Given the description of an element on the screen output the (x, y) to click on. 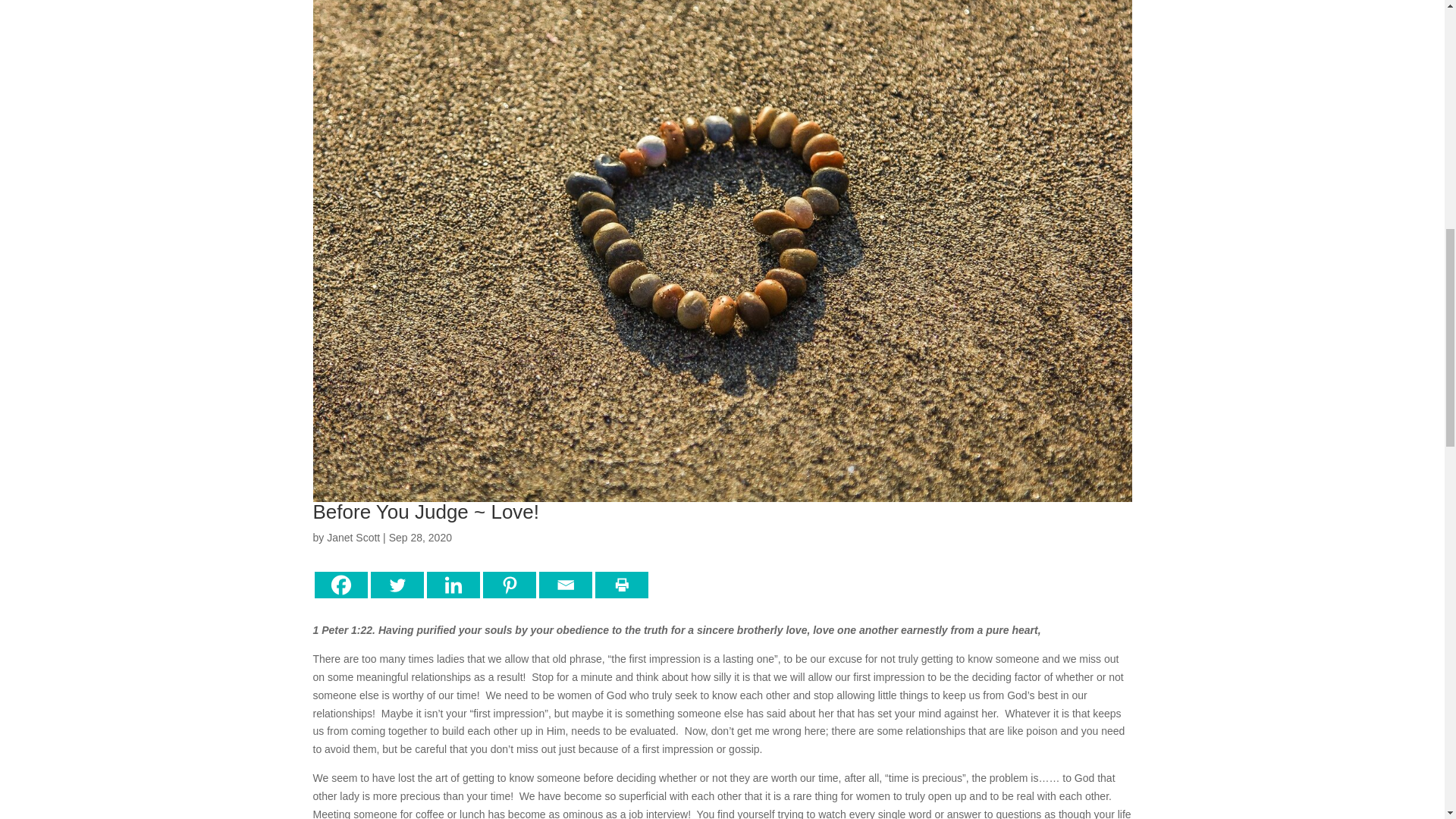
Janet Scott (353, 537)
Linkedin (452, 584)
Pinterest (508, 584)
Email (564, 584)
Posts by Janet Scott (353, 537)
Facebook (340, 584)
Print (620, 584)
Twitter (396, 584)
